Given the description of an element on the screen output the (x, y) to click on. 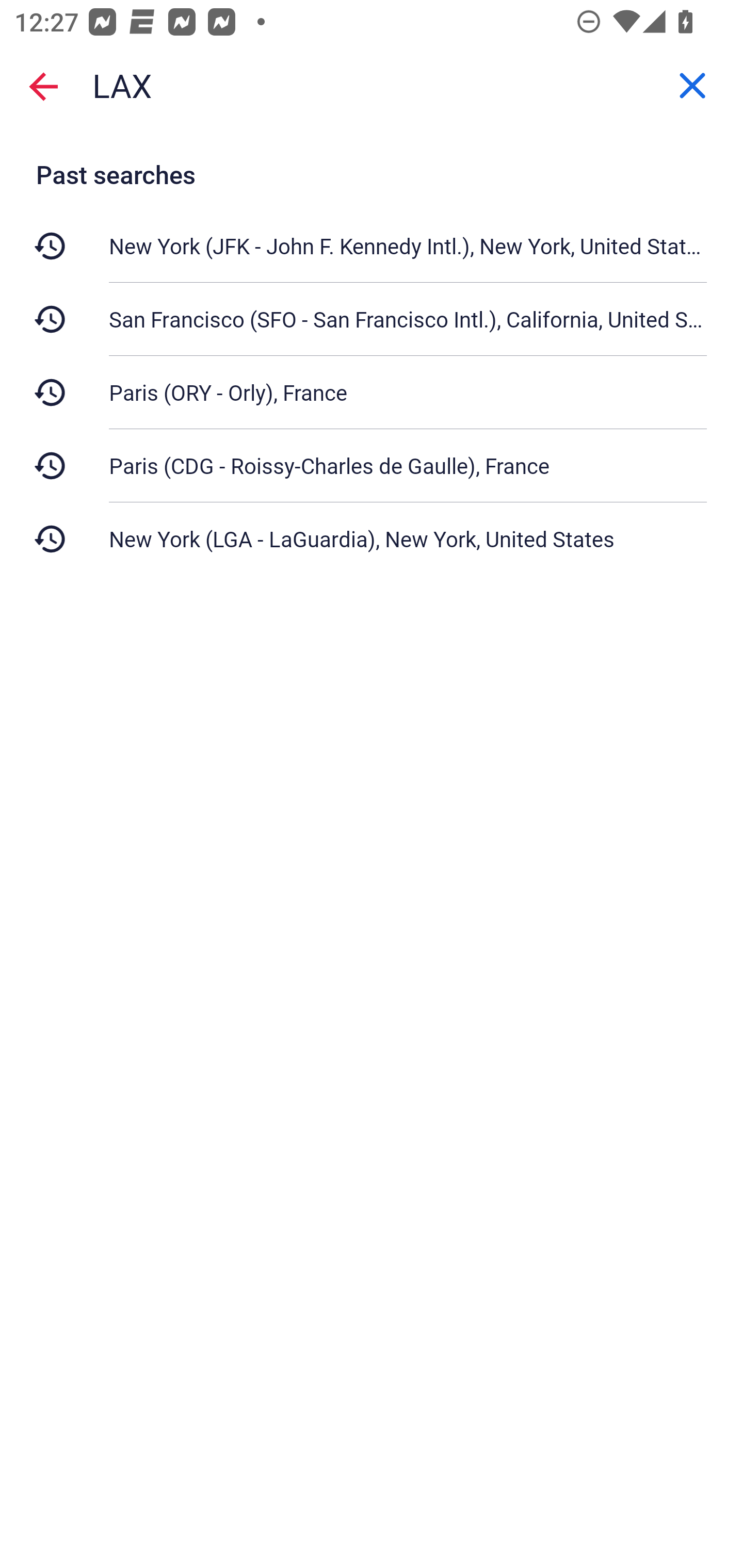
Clear Pick-up (692, 85)
Pick-up, LAX (371, 85)
Close search screen (43, 86)
